Given the description of an element on the screen output the (x, y) to click on. 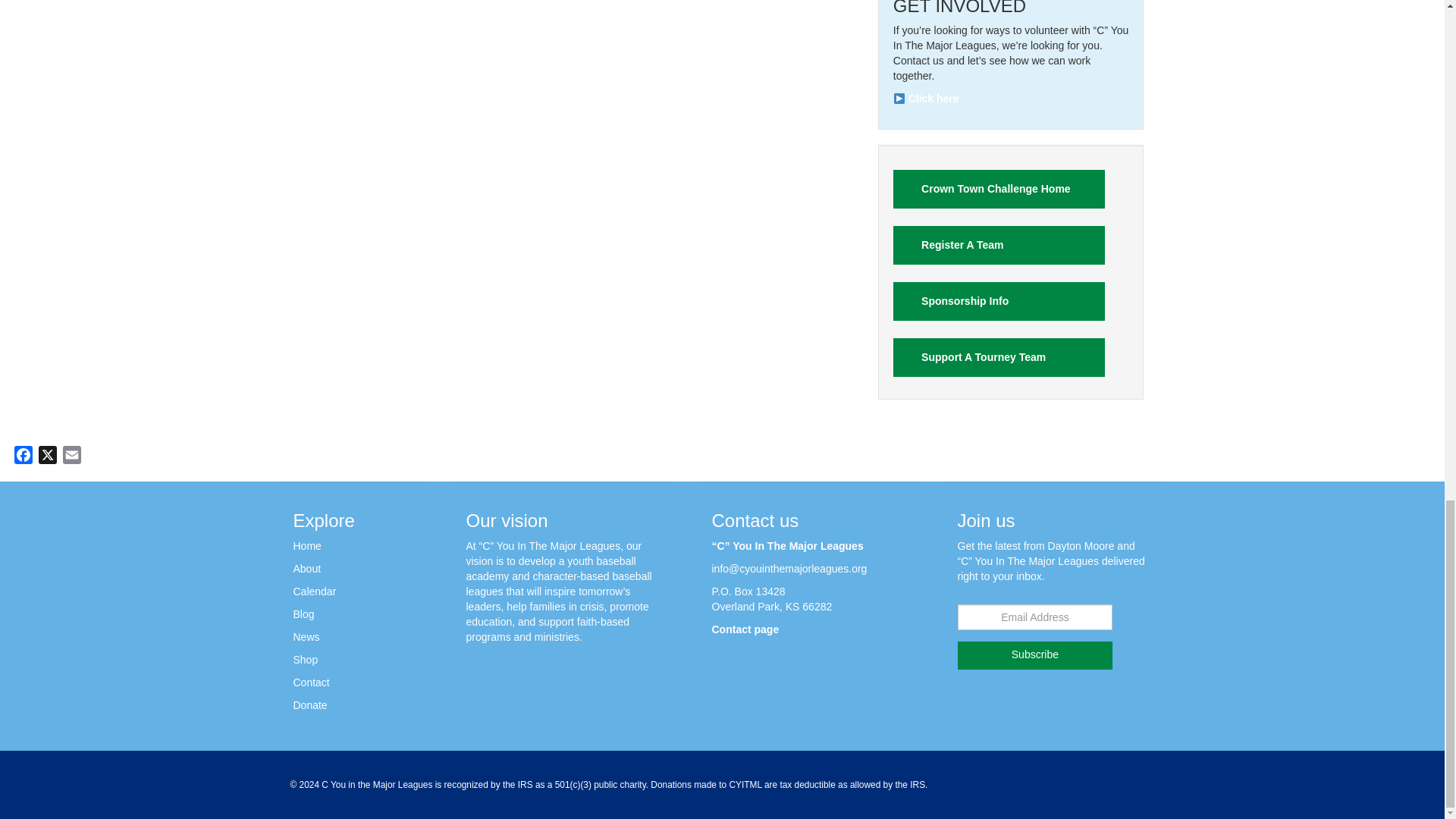
Subscribe (1034, 655)
